Given the description of an element on the screen output the (x, y) to click on. 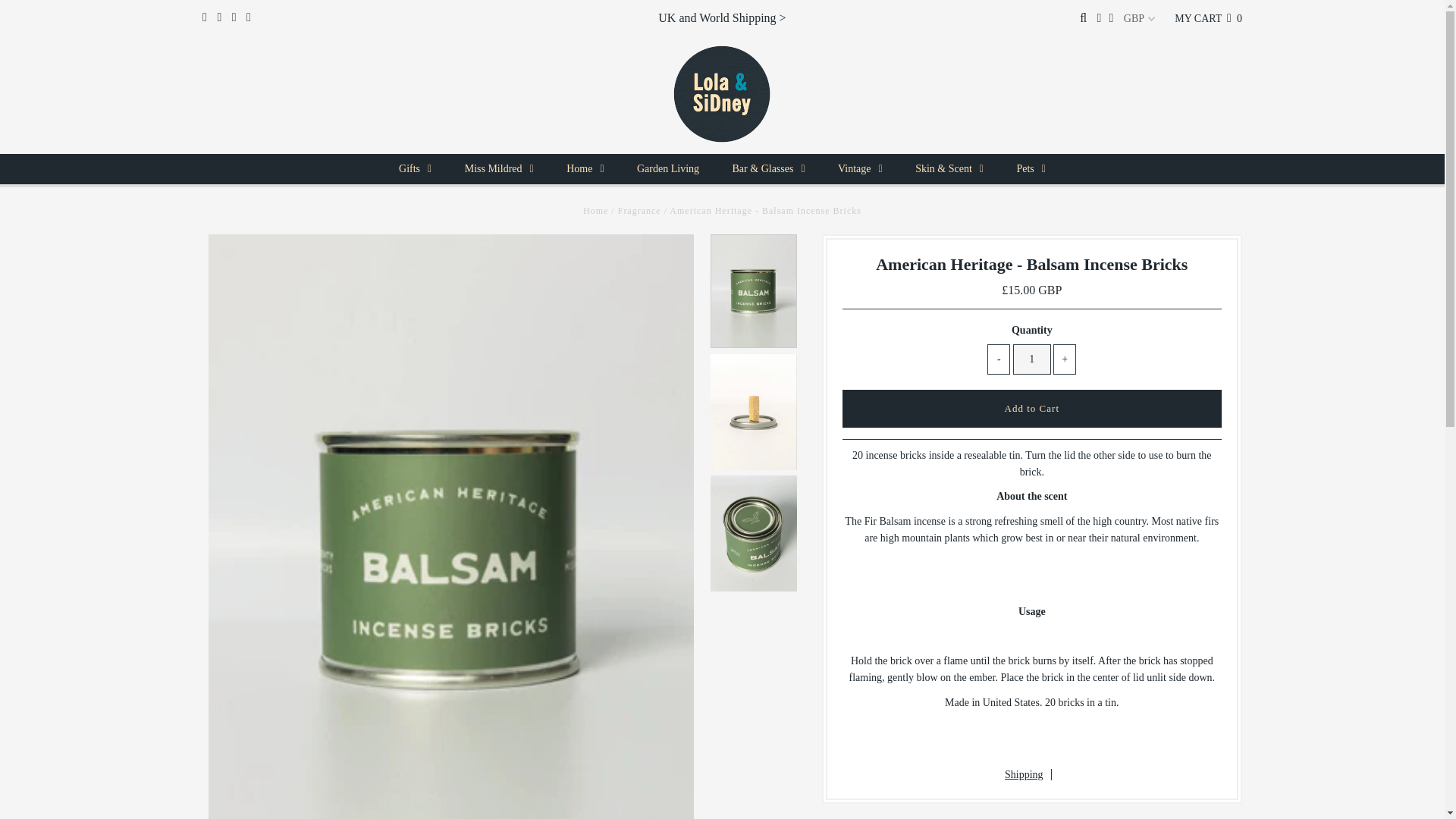
MY CART    0 (1207, 18)
Gifts (415, 168)
Add to Cart (1032, 408)
1 (1032, 358)
Fragrance (639, 210)
Home (595, 210)
